Given the description of an element on the screen output the (x, y) to click on. 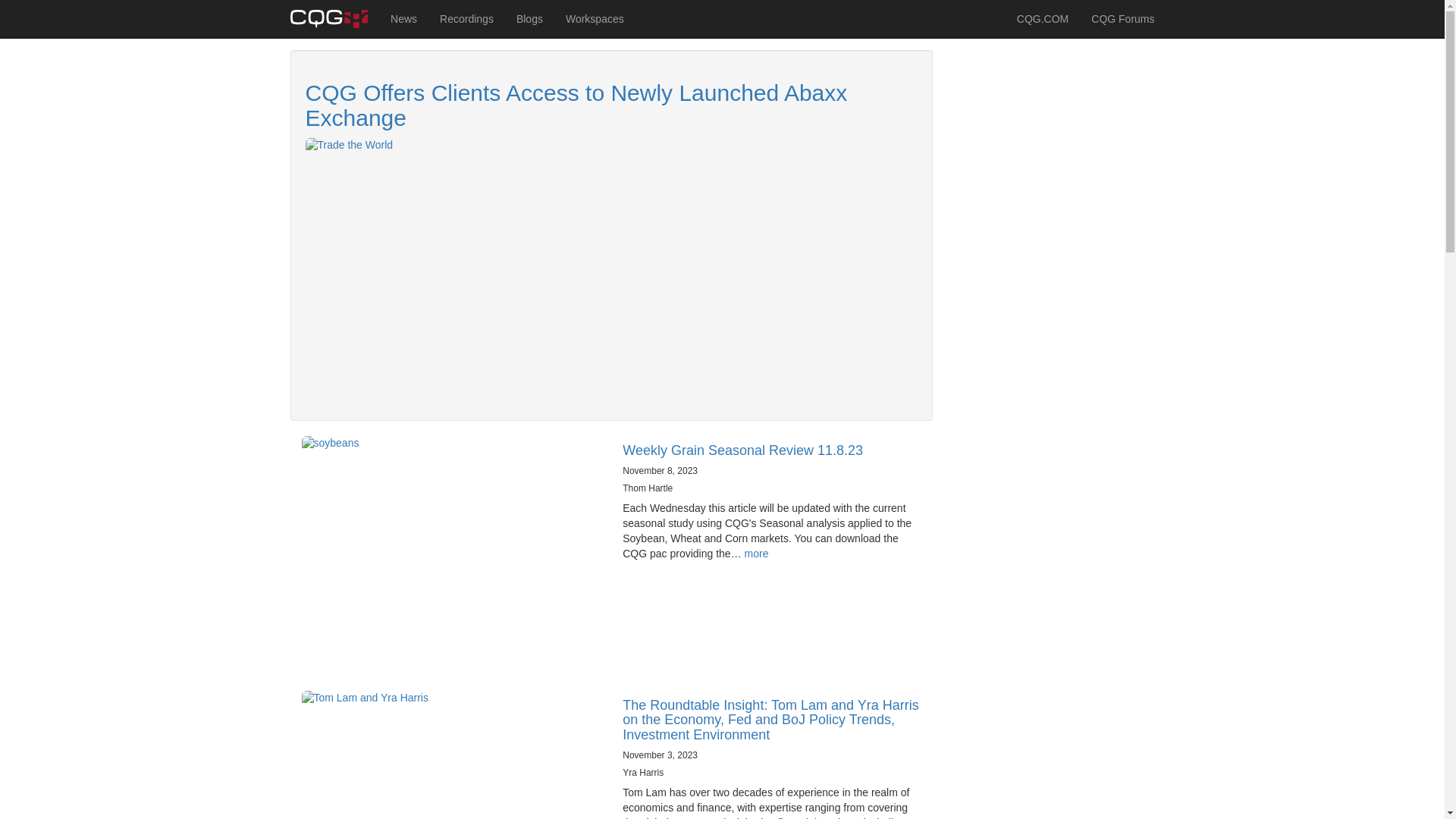
Home (333, 18)
Recordings (466, 18)
more (756, 553)
CQG Forums (1123, 18)
CQG.COM (1043, 18)
CQG Offers Clients Access to Newly Launched Abaxx Exchange (575, 105)
Workspaces (594, 18)
News (403, 18)
Blogs (529, 18)
Weekly Grain Seasonal Review 11.8.23 (743, 450)
